Given the description of an element on the screen output the (x, y) to click on. 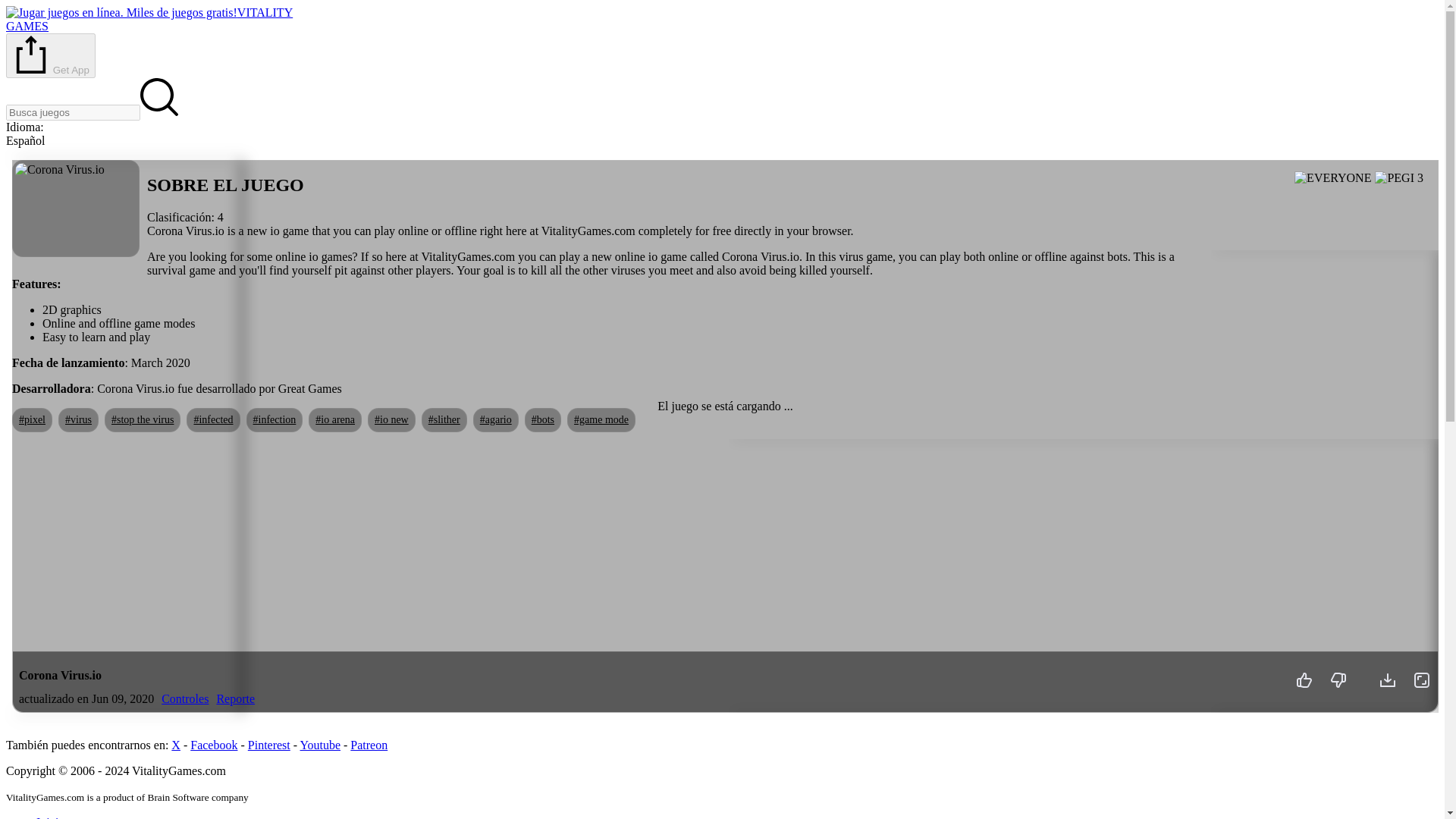
Reporte (234, 698)
Facebook (213, 744)
Pinterest (268, 744)
Patreon (368, 744)
Inicio (50, 817)
Youtube (319, 744)
Get App (50, 55)
Inicio (50, 817)
Controles (148, 18)
